Given the description of an element on the screen output the (x, y) to click on. 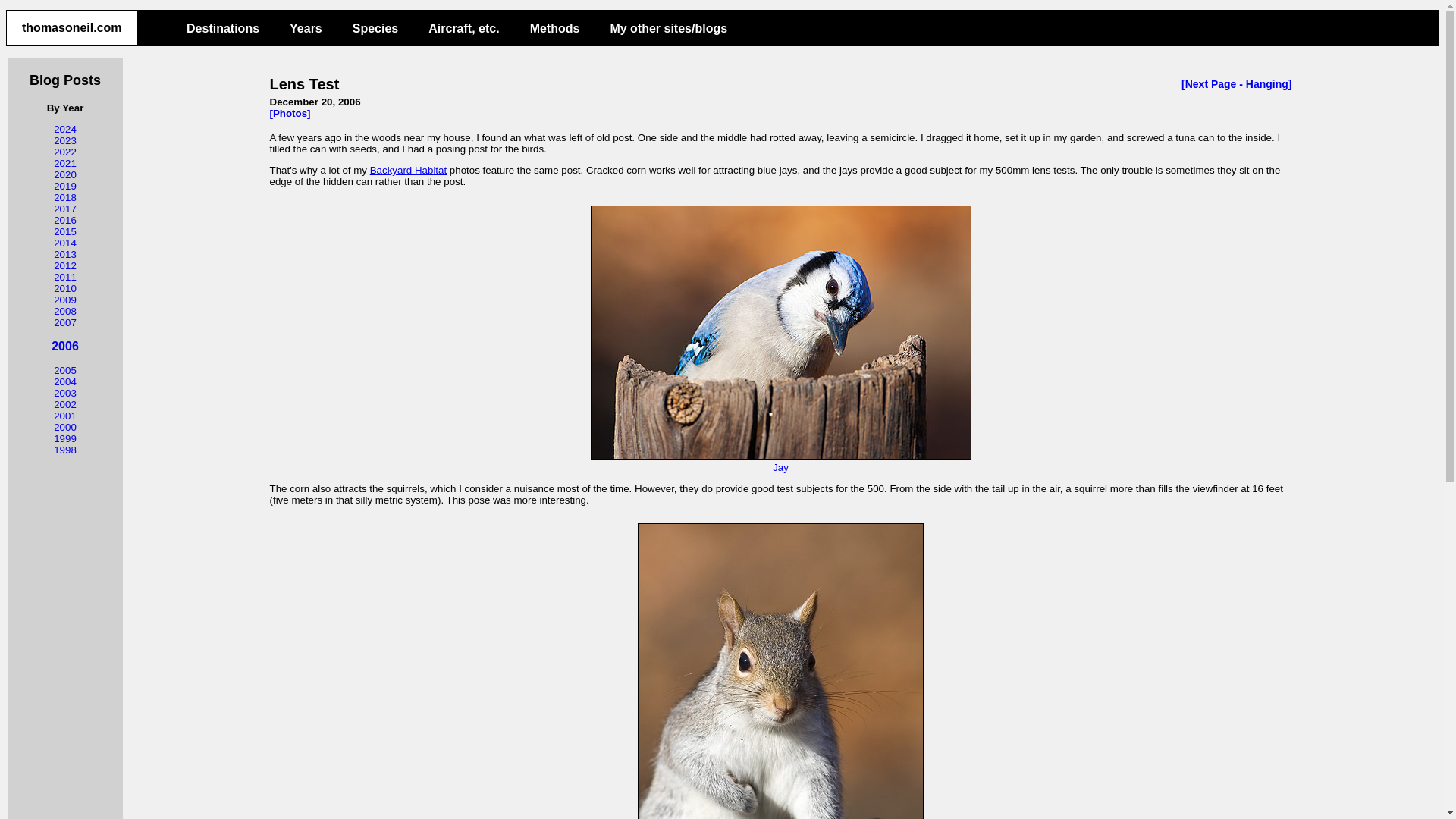
Aircraft, etc. (463, 22)
Years (306, 22)
Species (375, 22)
Methods (555, 22)
thomasoneil.com (71, 27)
Destinations (223, 22)
